Given the description of an element on the screen output the (x, y) to click on. 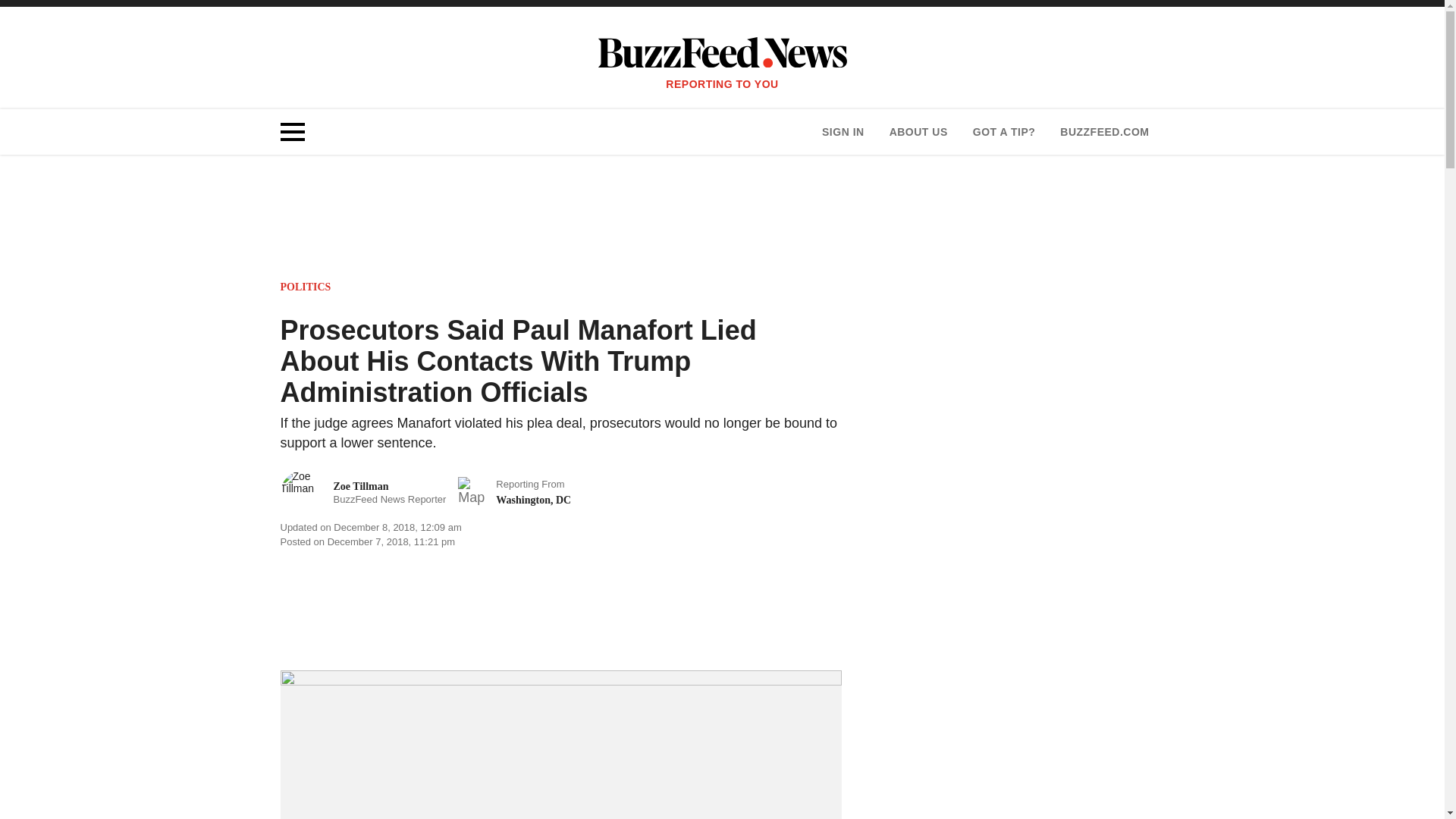
SIGN IN (842, 131)
GOT A TIP? (363, 492)
BUZZFEED.COM (1003, 131)
POLITICS (1103, 131)
ABOUT US (306, 286)
